Given the description of an element on the screen output the (x, y) to click on. 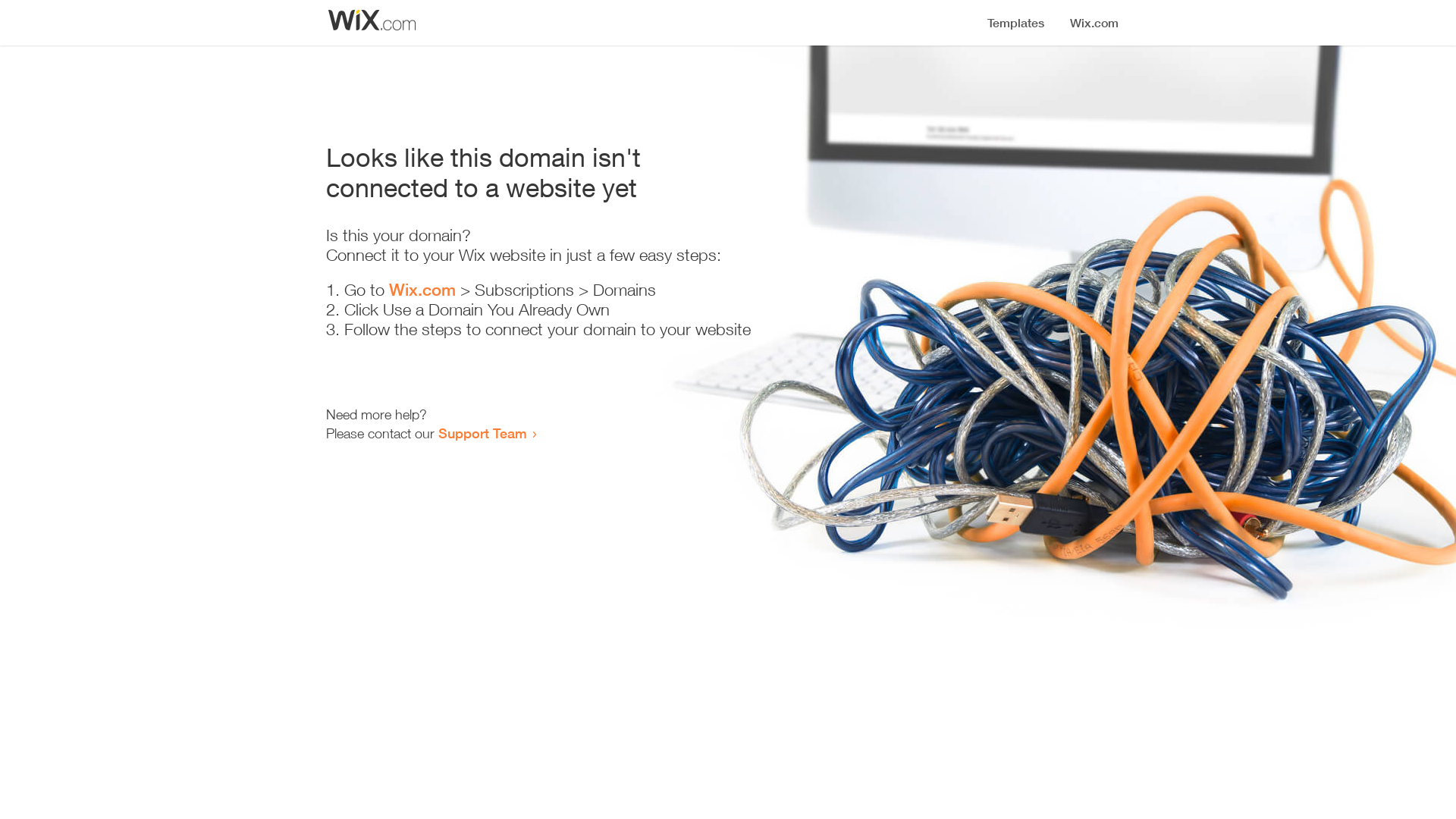
Support Team Element type: text (482, 432)
Wix.com Element type: text (422, 289)
